Given the description of an element on the screen output the (x, y) to click on. 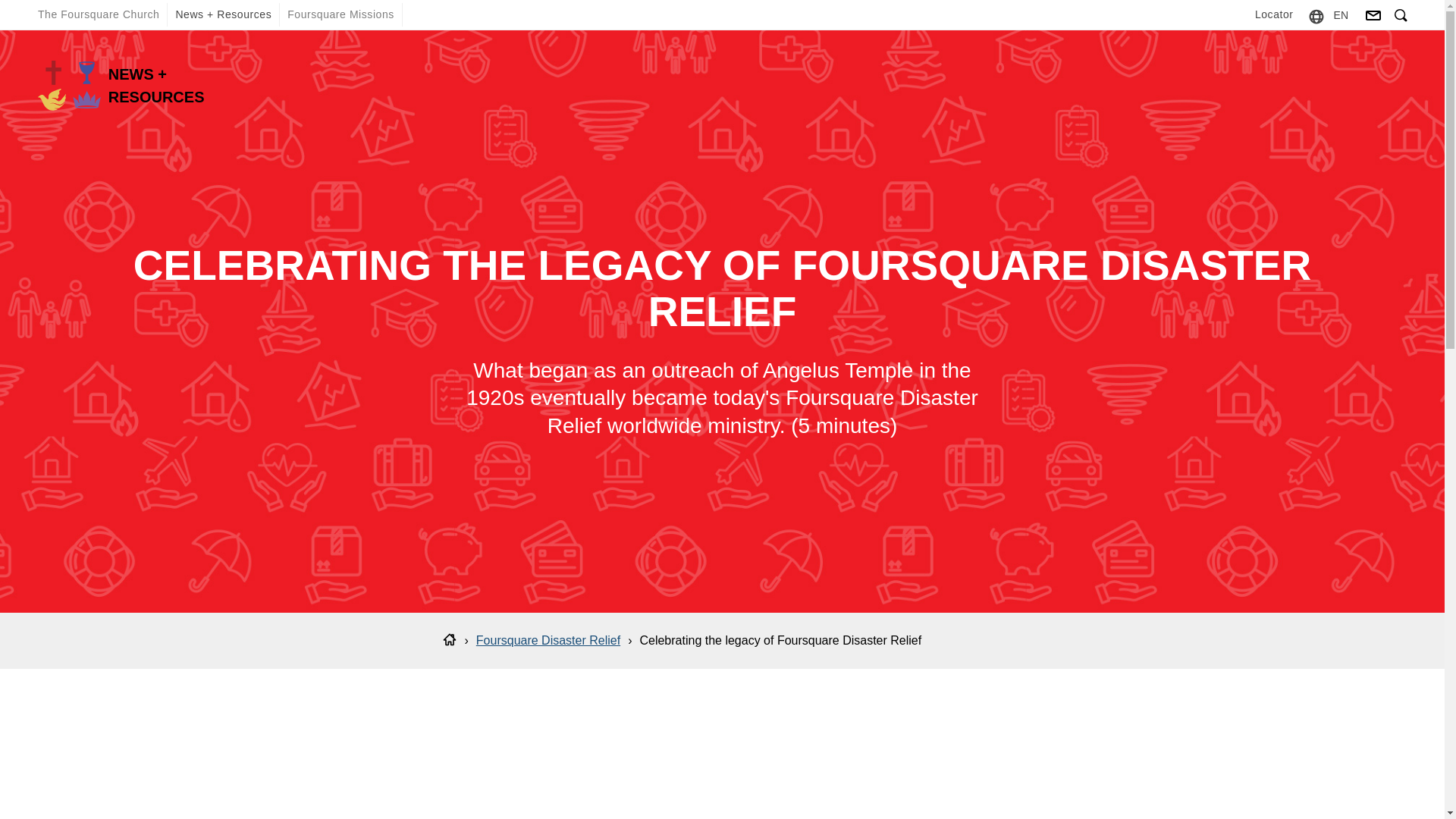
Locator (1274, 14)
Celebrating the legacy of Foursquare Disaster Relief (780, 640)
TOGGLE SEARCH FORM (1400, 16)
TOGGLE SUBSCRIBE FORM (1372, 15)
The Foursquare Church (98, 14)
100 Years of The Gospel in Action (722, 759)
Foursquare Disaster Relief (548, 640)
Foursquare Missions (340, 14)
EN (1341, 14)
